Given the description of an element on the screen output the (x, y) to click on. 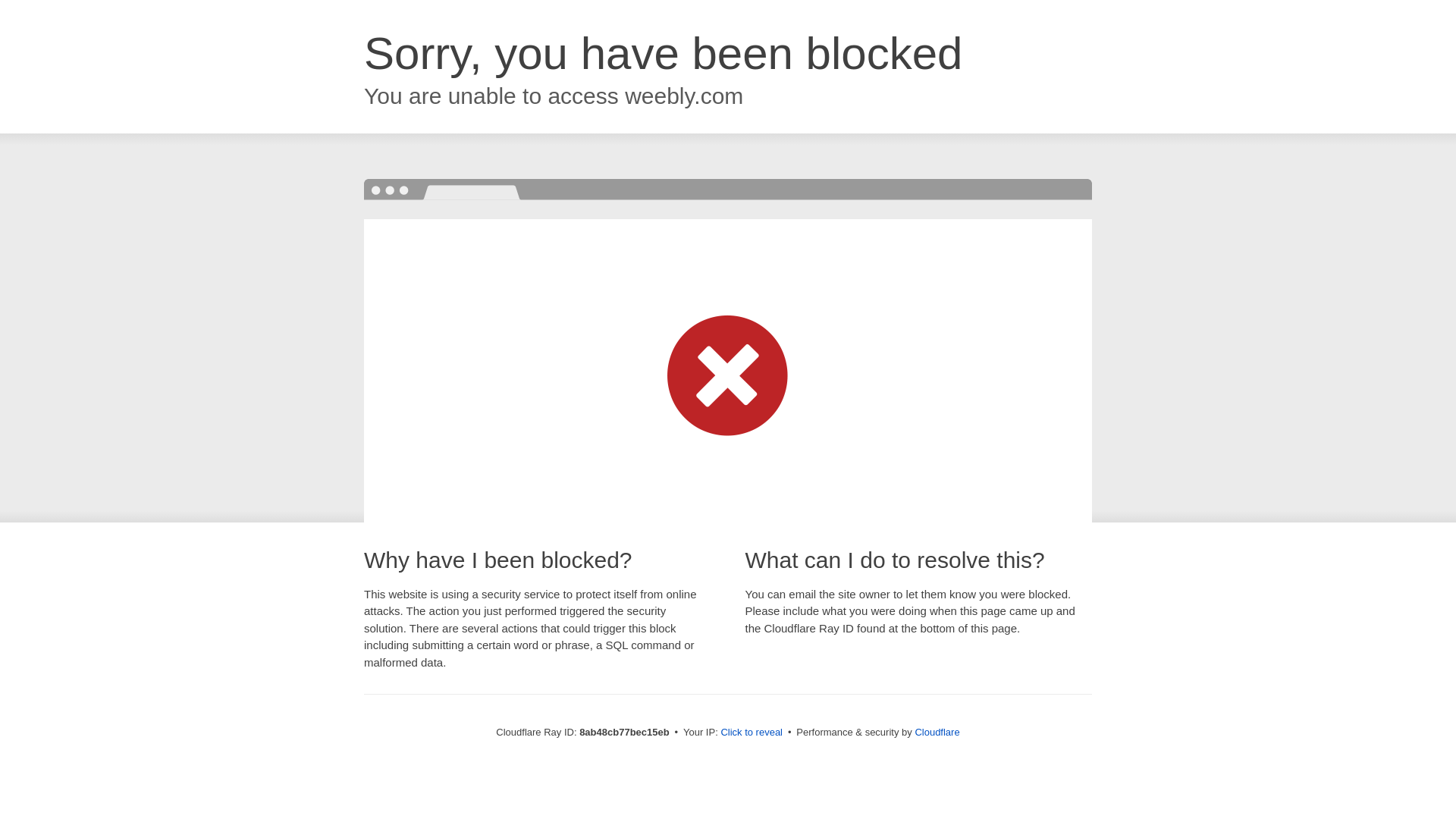
Click to reveal (751, 732)
Cloudflare (936, 731)
